Given the description of an element on the screen output the (x, y) to click on. 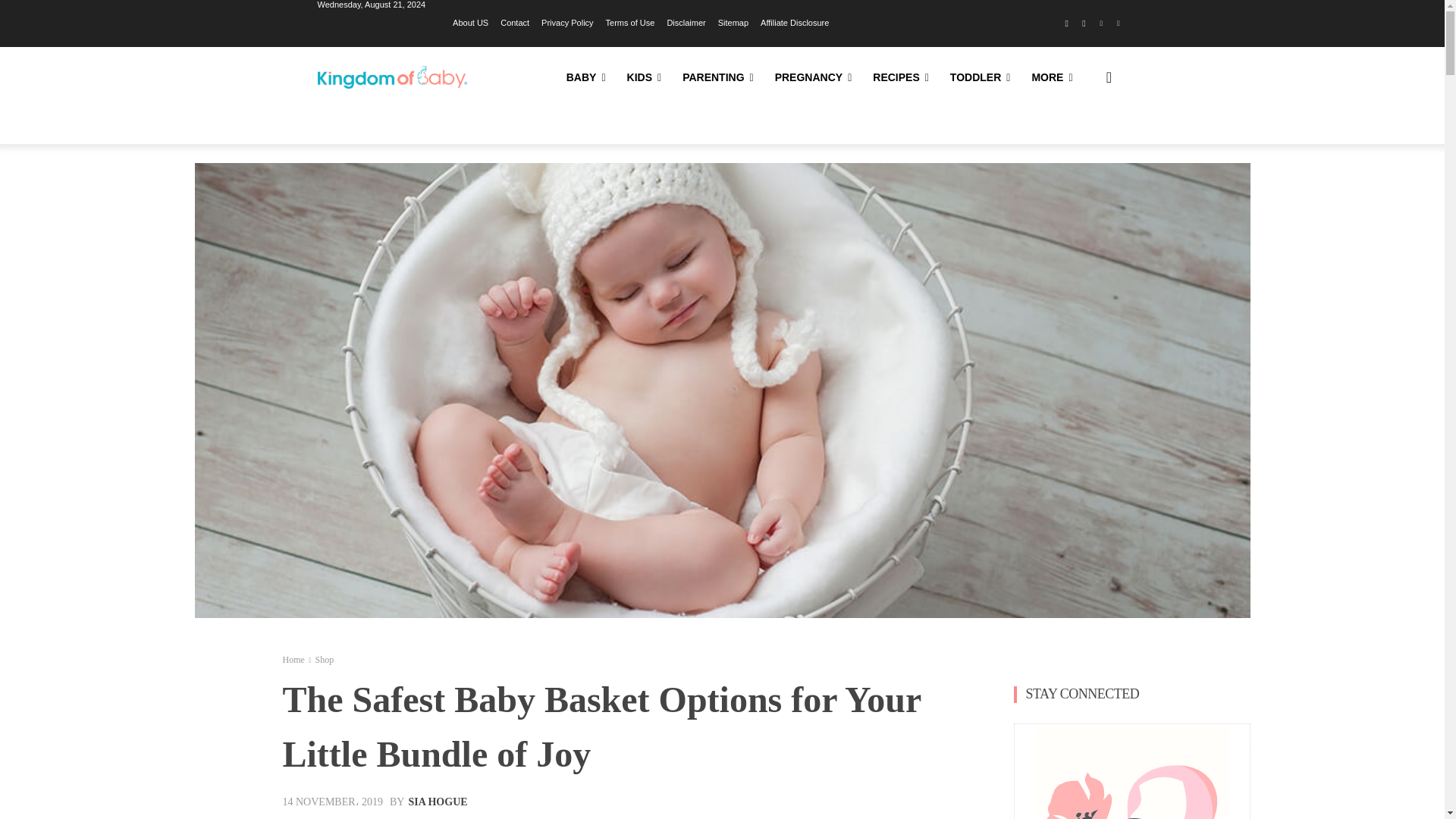
Pinterest (1101, 23)
Facebook (1066, 23)
Twitter (1117, 23)
Instagram (1084, 23)
View all posts in Shop (323, 659)
